Given the description of an element on the screen output the (x, y) to click on. 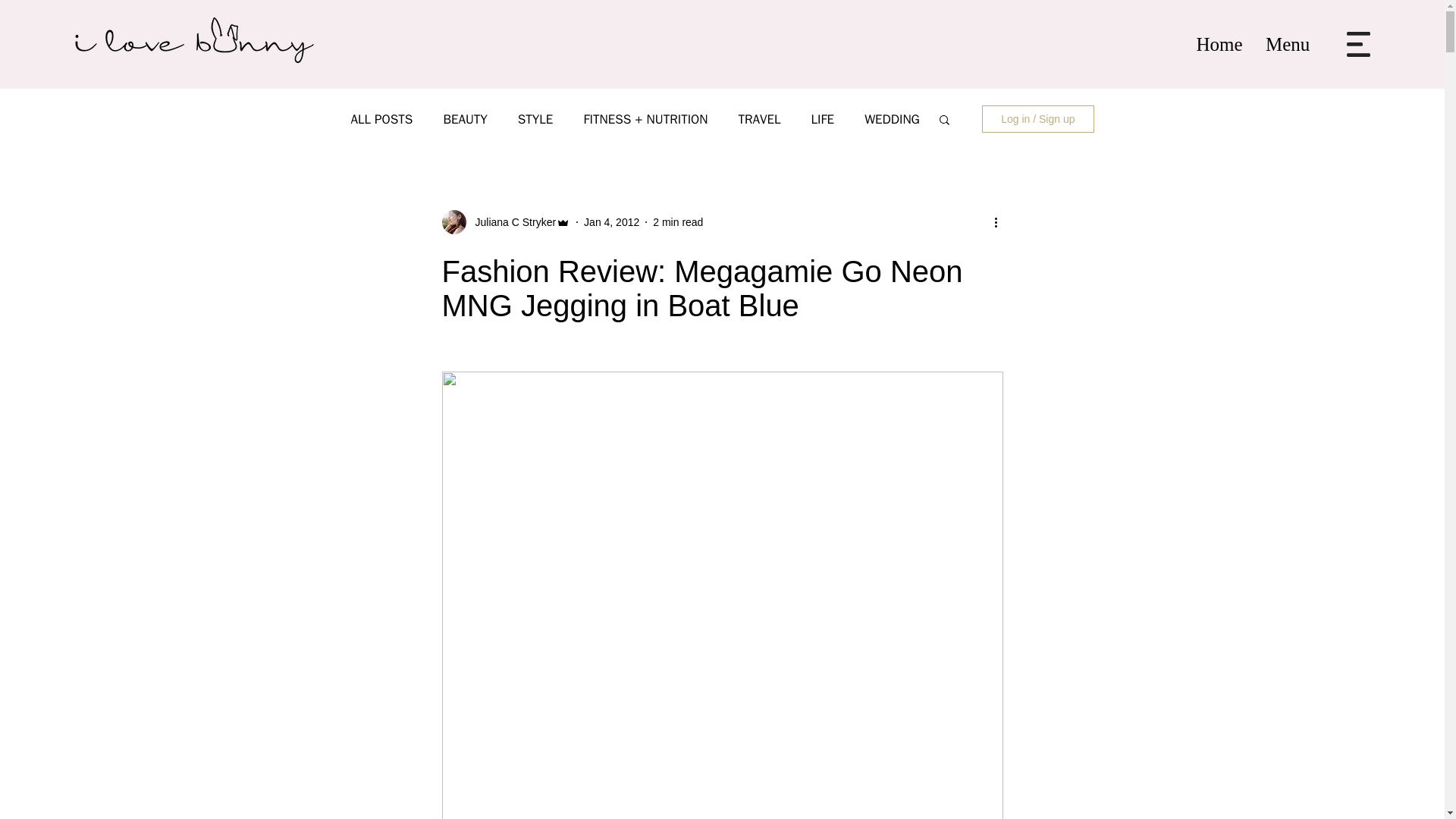
BEAUTY (464, 118)
LIFE (822, 118)
STYLE (535, 118)
2 min read (677, 221)
WEDDING (892, 118)
Juliana C Stryker (510, 221)
Home (1219, 43)
Jan 4, 2012 (611, 221)
ALL POSTS (381, 118)
TRAVEL (759, 118)
